Given the description of an element on the screen output the (x, y) to click on. 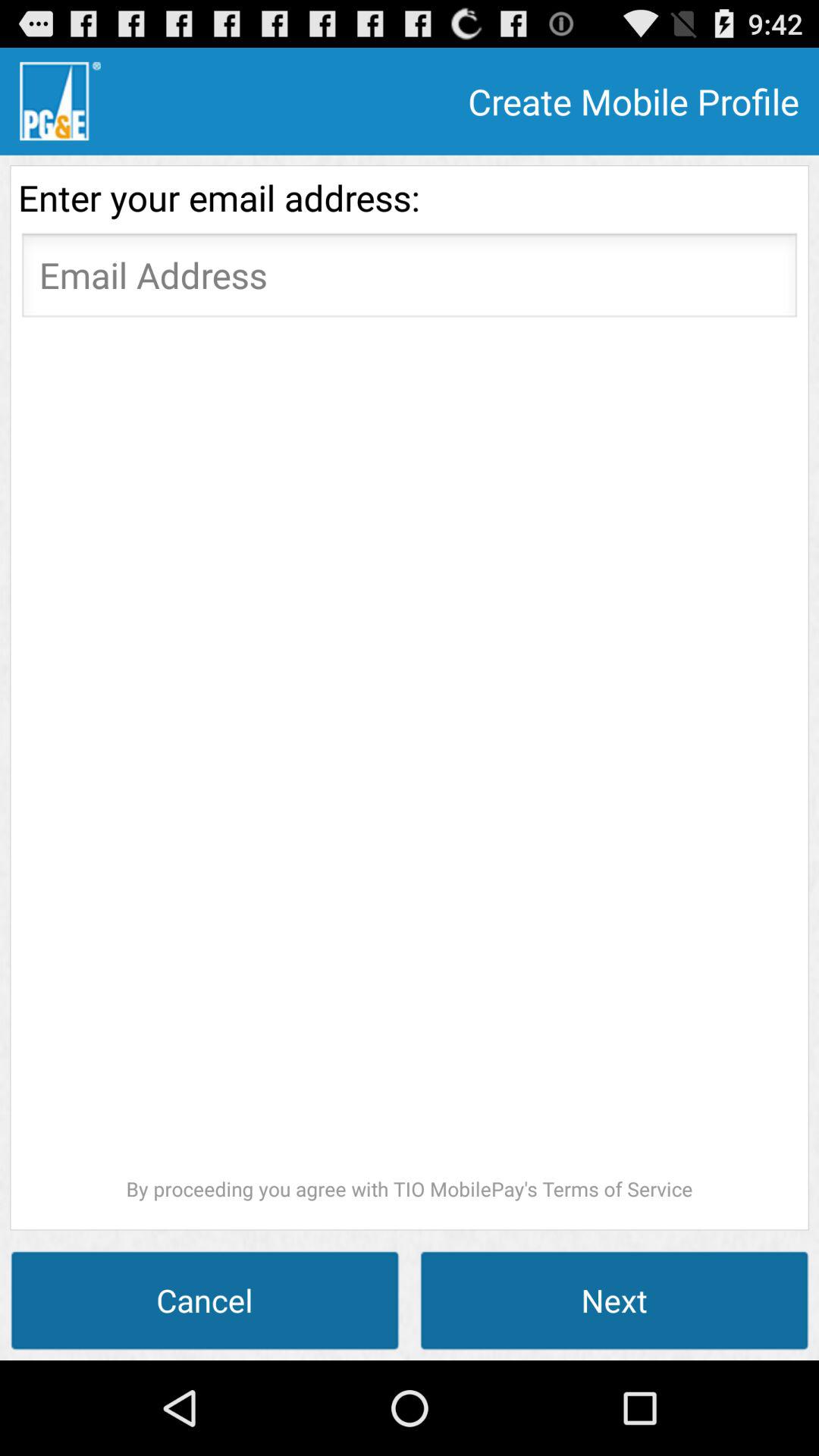
swipe until the by proceeding you app (409, 764)
